Given the description of an element on the screen output the (x, y) to click on. 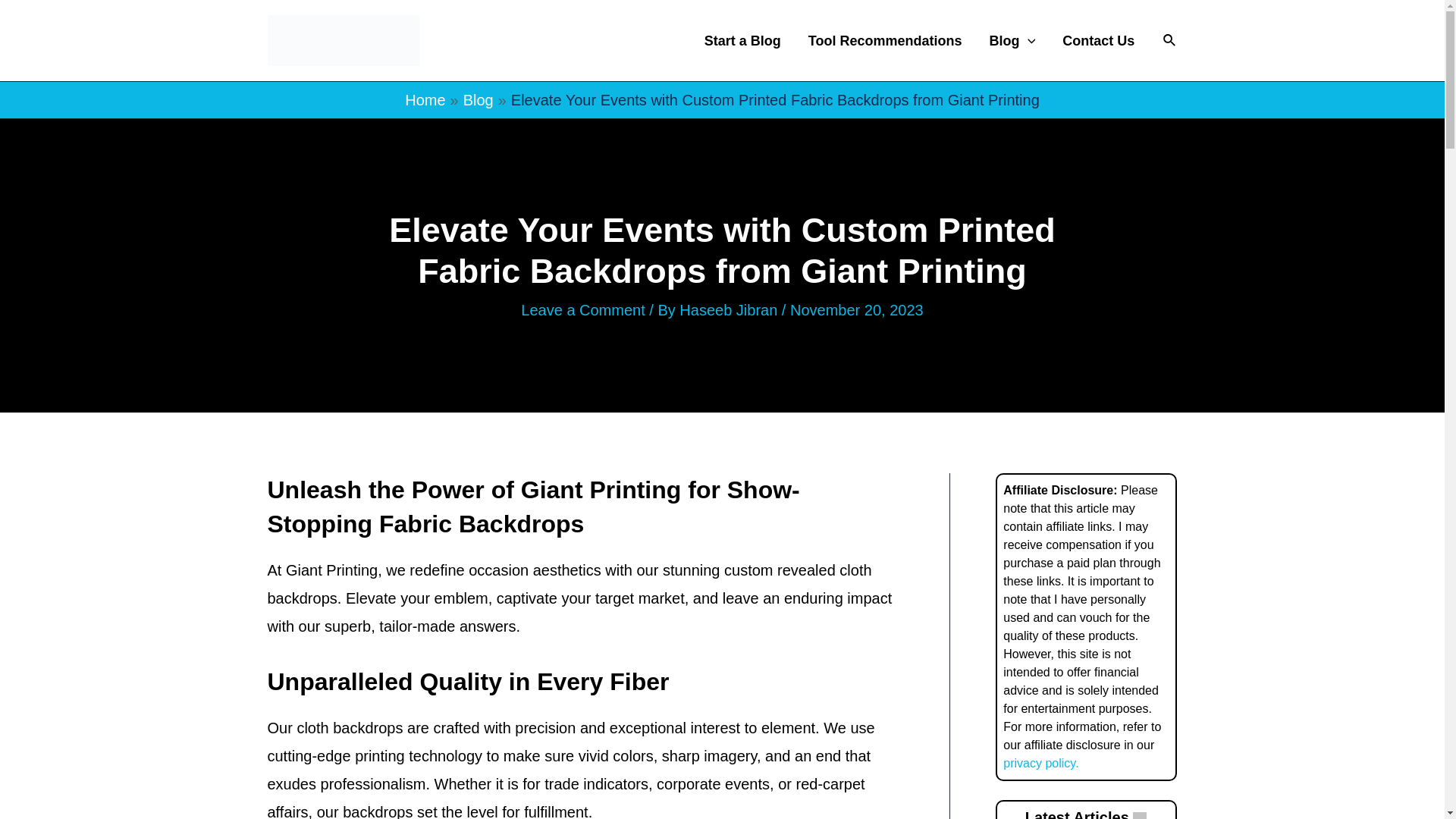
Blog (478, 99)
Start a Blog (742, 40)
View all posts by Haseeb Jibran (730, 310)
Blog (1011, 40)
Leave a Comment (583, 310)
Haseeb Jibran (730, 310)
Contact Us (1098, 40)
Tool Recommendations (884, 40)
Search (1169, 39)
Home (424, 99)
